Given the description of an element on the screen output the (x, y) to click on. 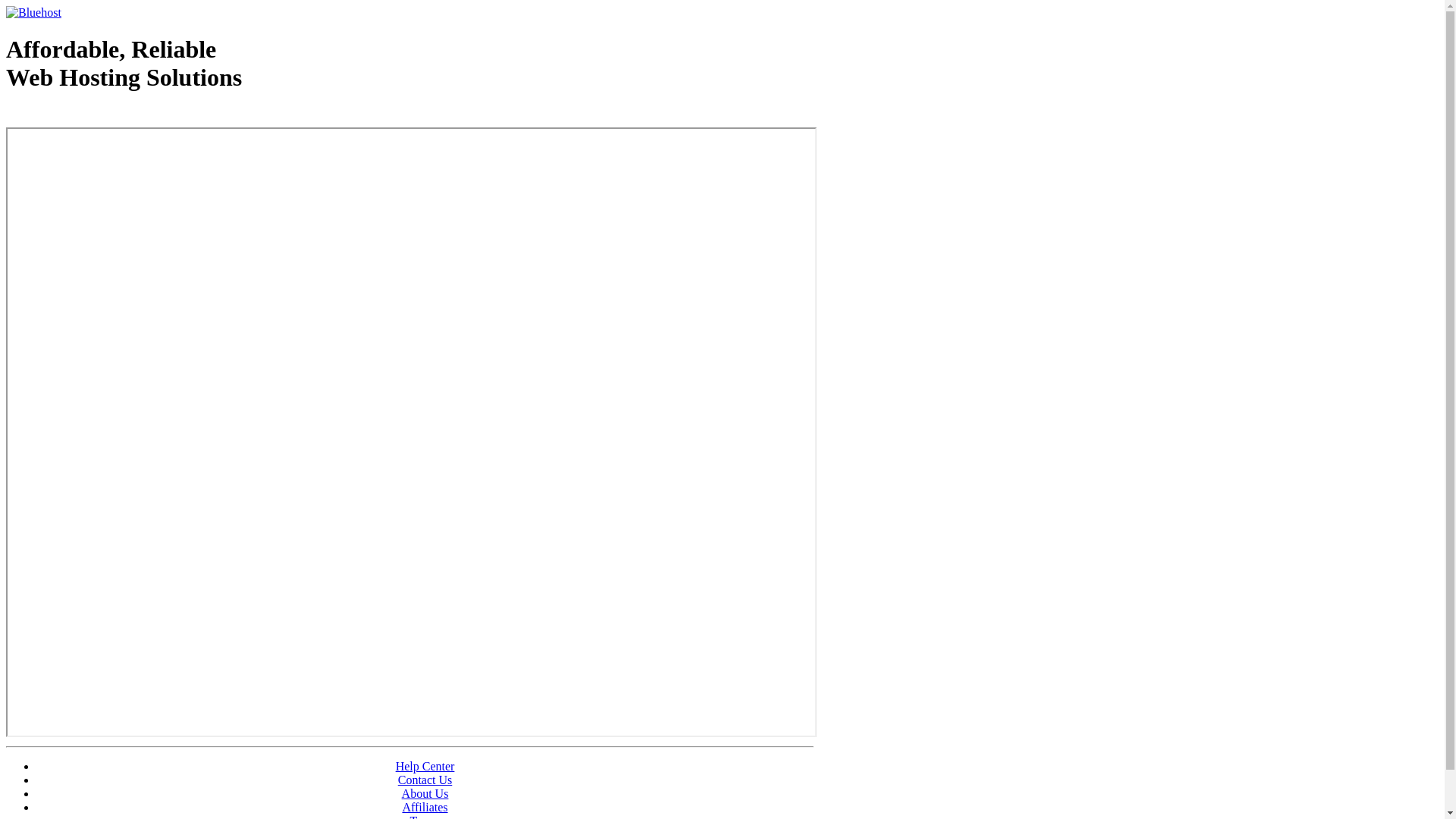
About Us Element type: text (424, 793)
Affiliates Element type: text (424, 806)
Help Center Element type: text (425, 765)
Web Hosting - courtesy of www.bluehost.com Element type: text (94, 115)
Contact Us Element type: text (425, 779)
